Given the description of an element on the screen output the (x, y) to click on. 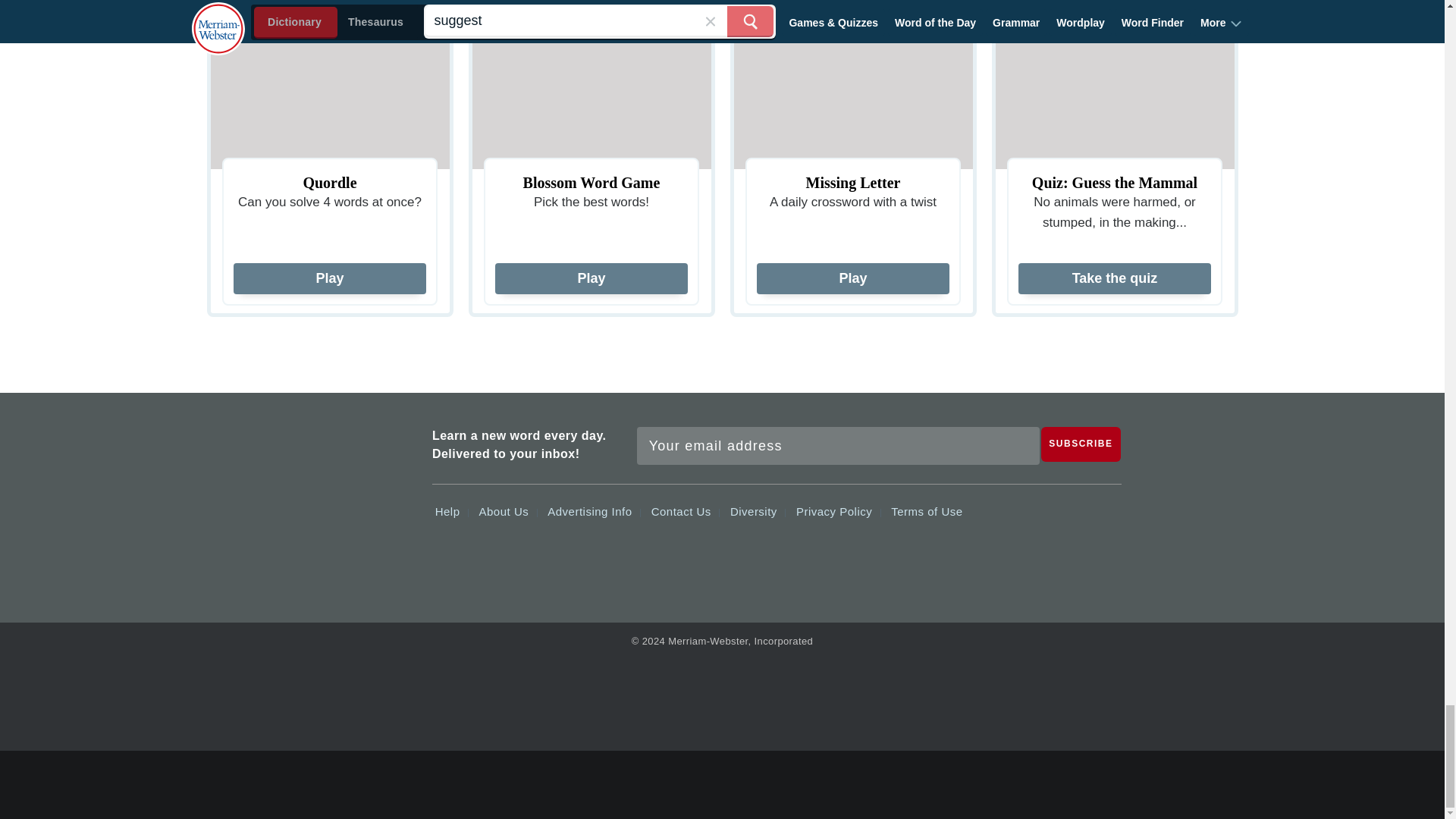
SUBSCRIBE (1081, 443)
